Given the description of an element on the screen output the (x, y) to click on. 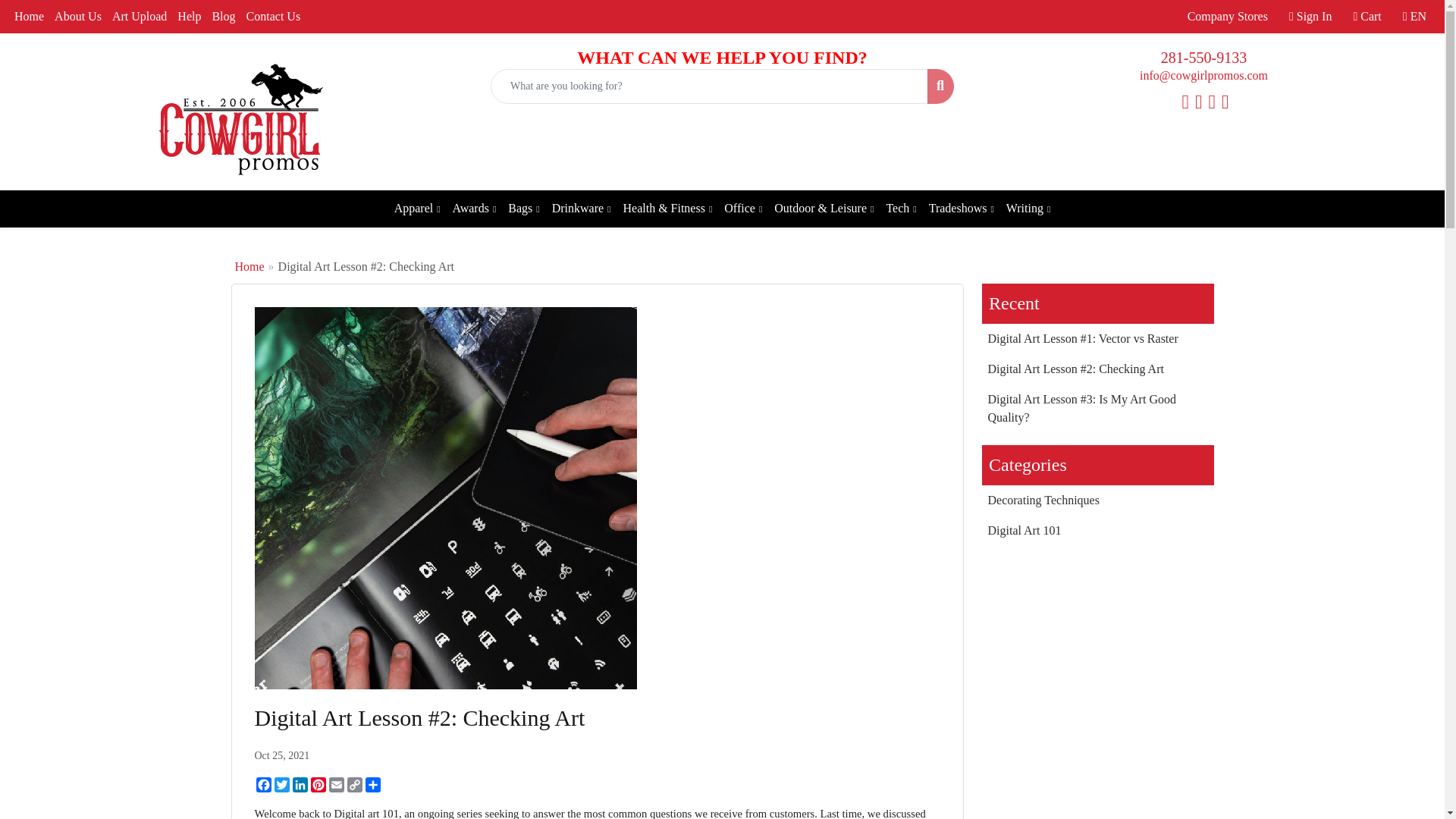
Sign In (1311, 16)
Apparel (417, 208)
Home (28, 16)
Art Upload (138, 16)
Cart (1367, 16)
Contact Us (273, 16)
EN (1414, 16)
Help (188, 16)
Company Stores (1227, 16)
281-550-9133 (1203, 57)
About Us (77, 16)
Blog (223, 16)
